Given the description of an element on the screen output the (x, y) to click on. 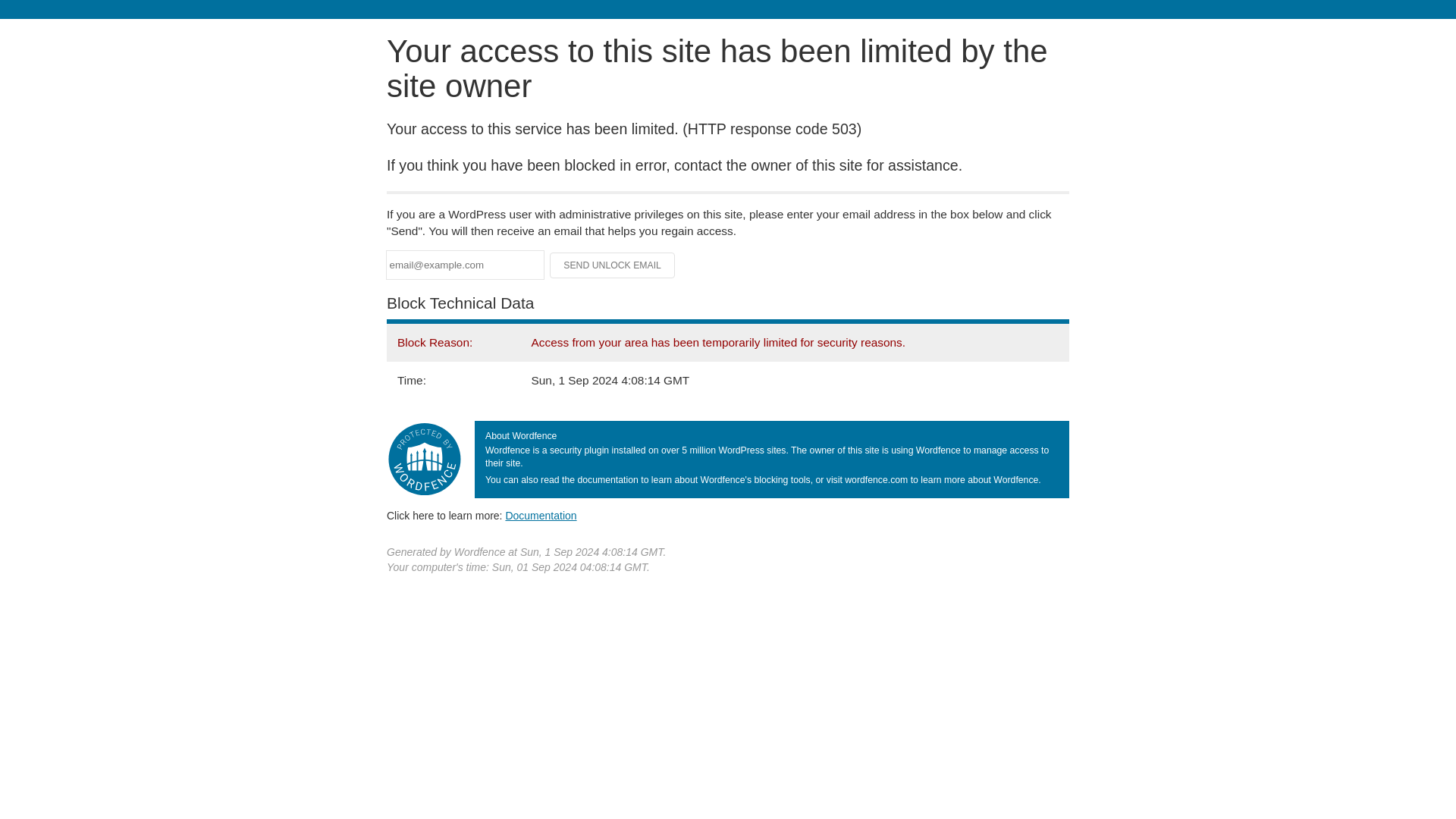
Documentation (540, 515)
Send Unlock Email (612, 265)
Send Unlock Email (612, 265)
